Given the description of an element on the screen output the (x, y) to click on. 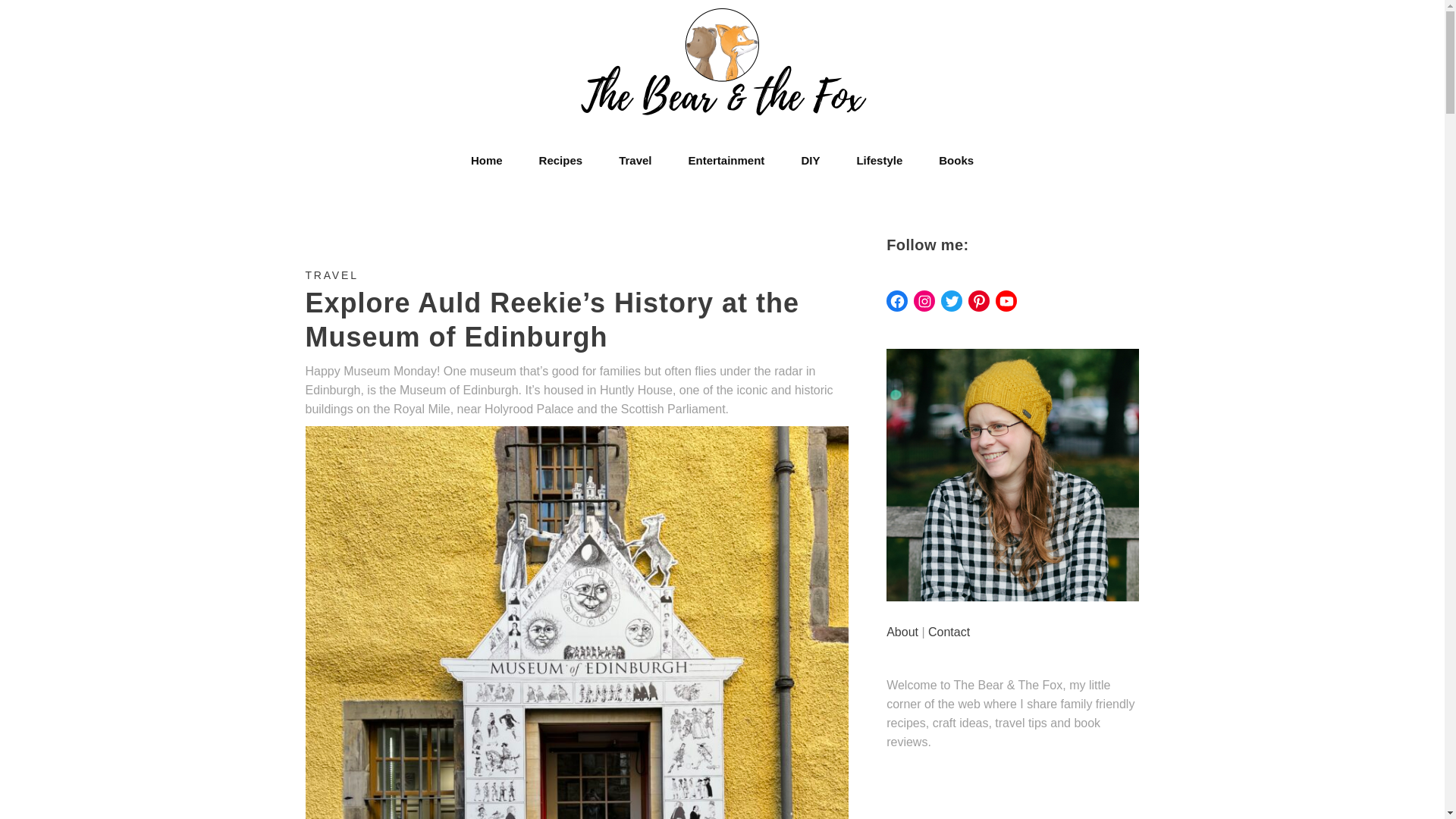
Lifestyle (879, 160)
Home (486, 160)
Books (955, 160)
DIY (810, 160)
TRAVEL (331, 275)
Travel (634, 160)
Entertainment (726, 160)
Recipes (561, 160)
